Given the description of an element on the screen output the (x, y) to click on. 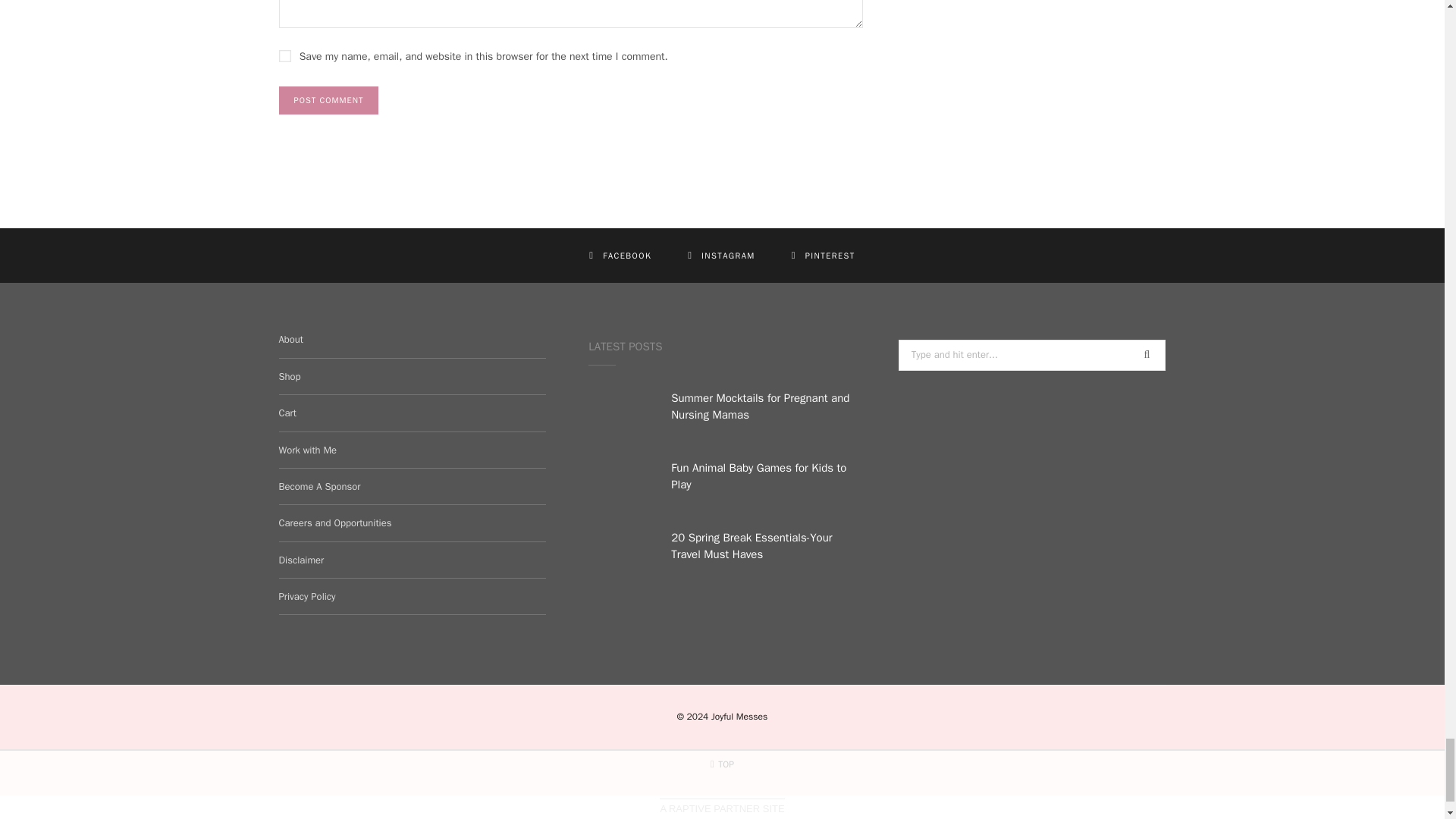
Post Comment (328, 100)
yes (285, 55)
